Given the description of an element on the screen output the (x, y) to click on. 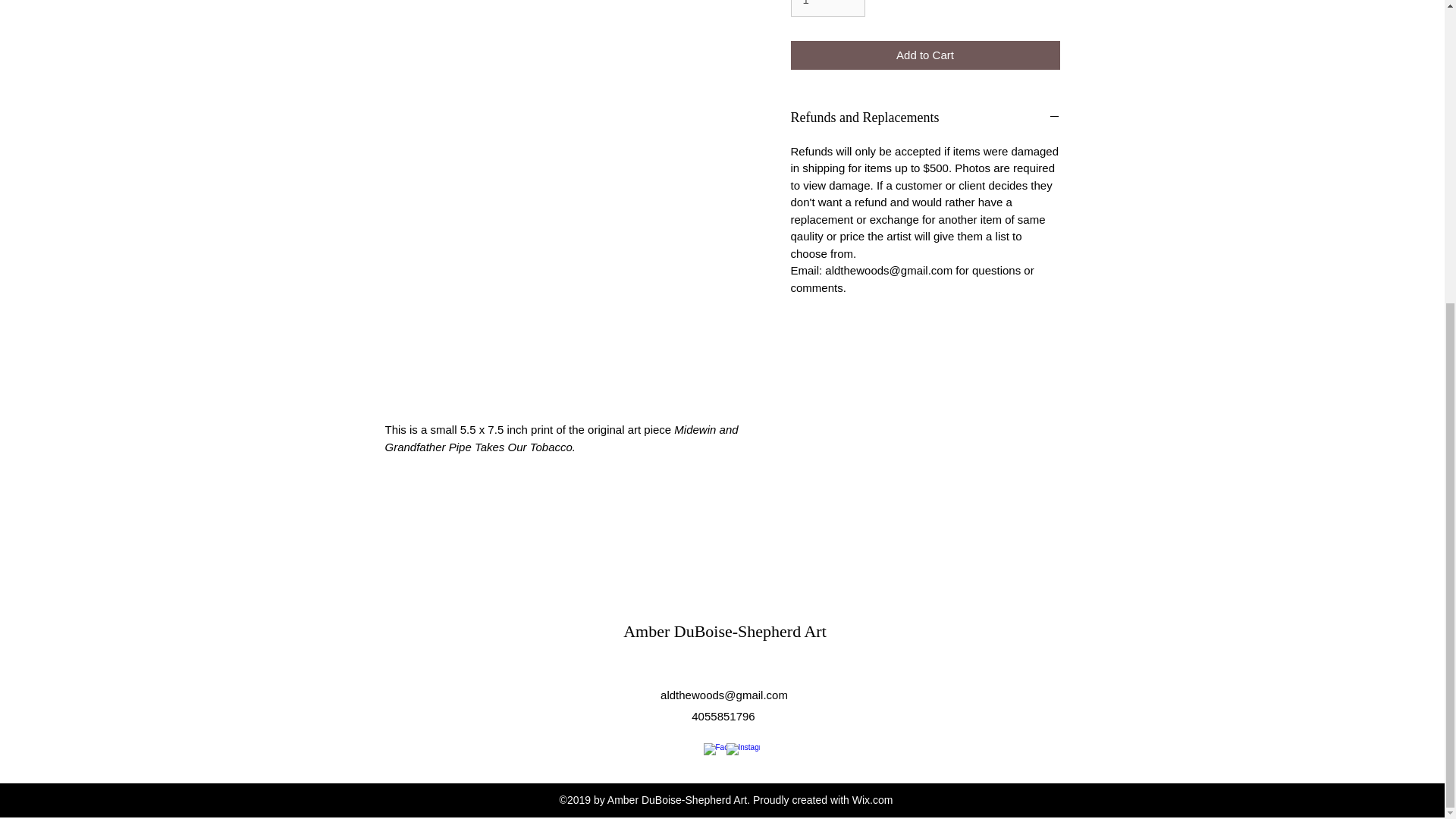
Add to Cart (924, 55)
Refunds and Replacements (924, 118)
Amber DuBoise-Shepherd Art (725, 630)
1 (827, 8)
